Given the description of an element on the screen output the (x, y) to click on. 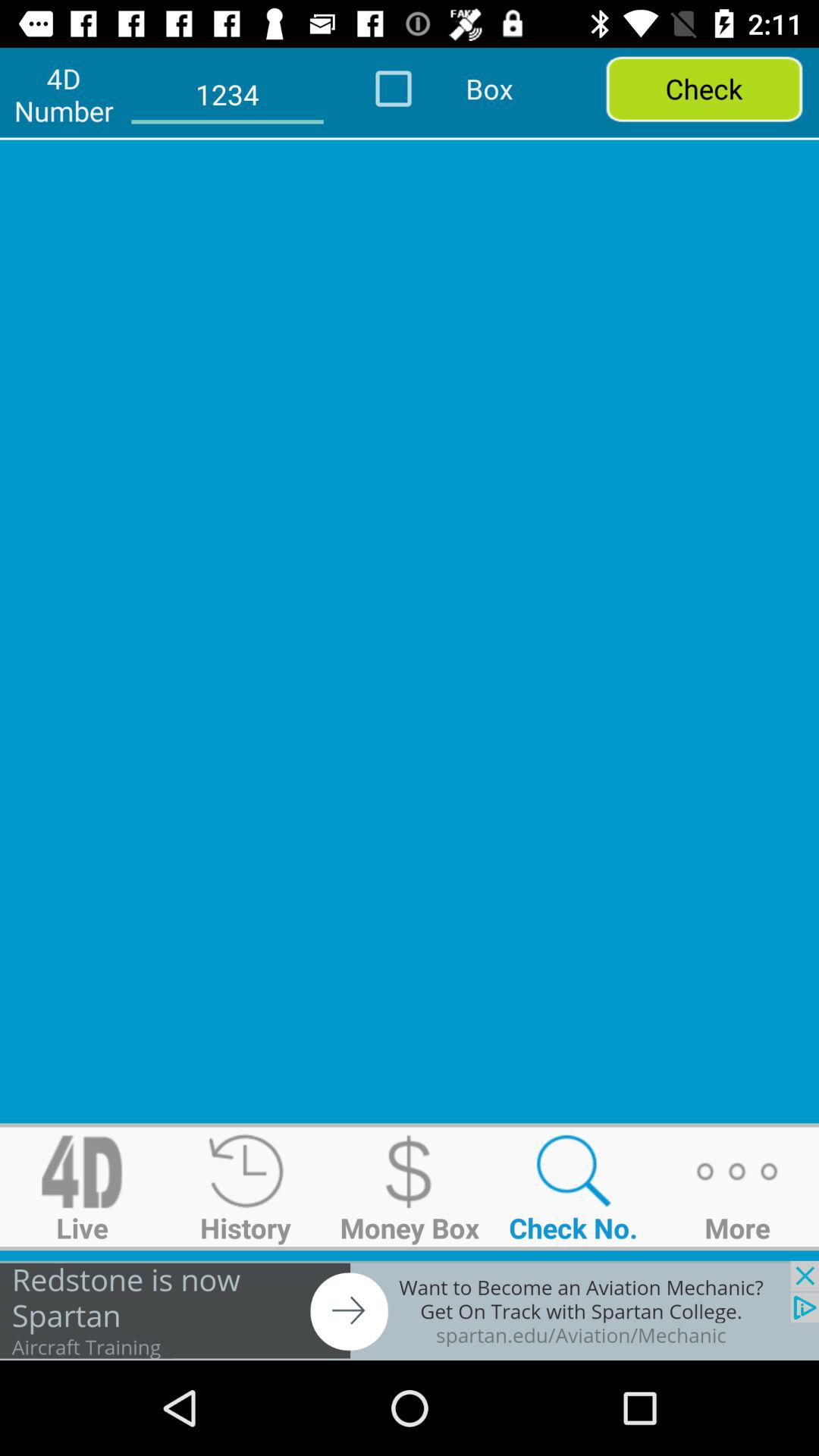
click on check option (704, 87)
click money box (409, 1170)
click on more option (737, 1186)
click on history at the bottom (245, 1186)
click on the square box option (413, 88)
click on search symbol above the text check no (573, 1170)
